Given the description of an element on the screen output the (x, y) to click on. 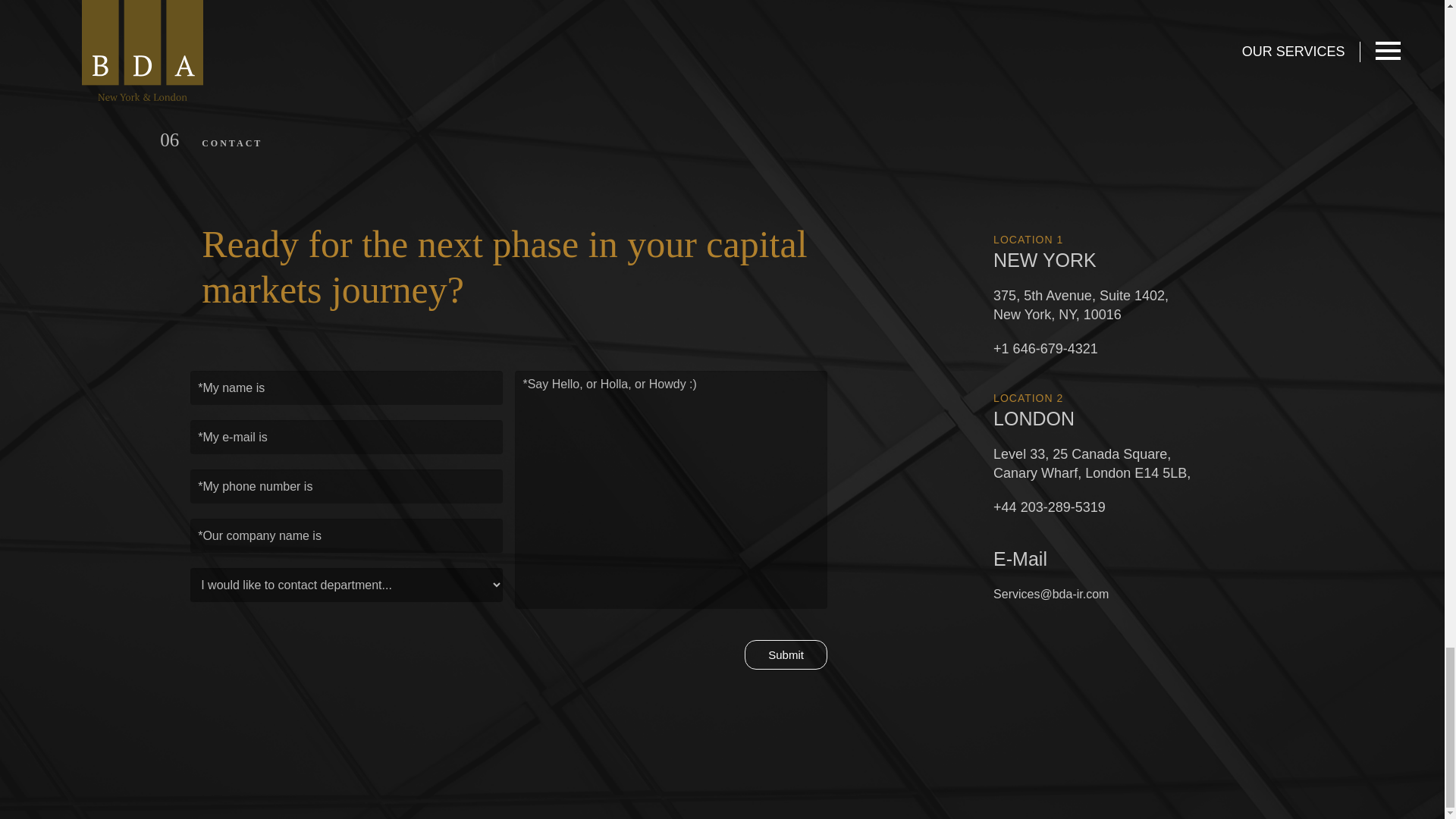
Submit (785, 654)
